Given the description of an element on the screen output the (x, y) to click on. 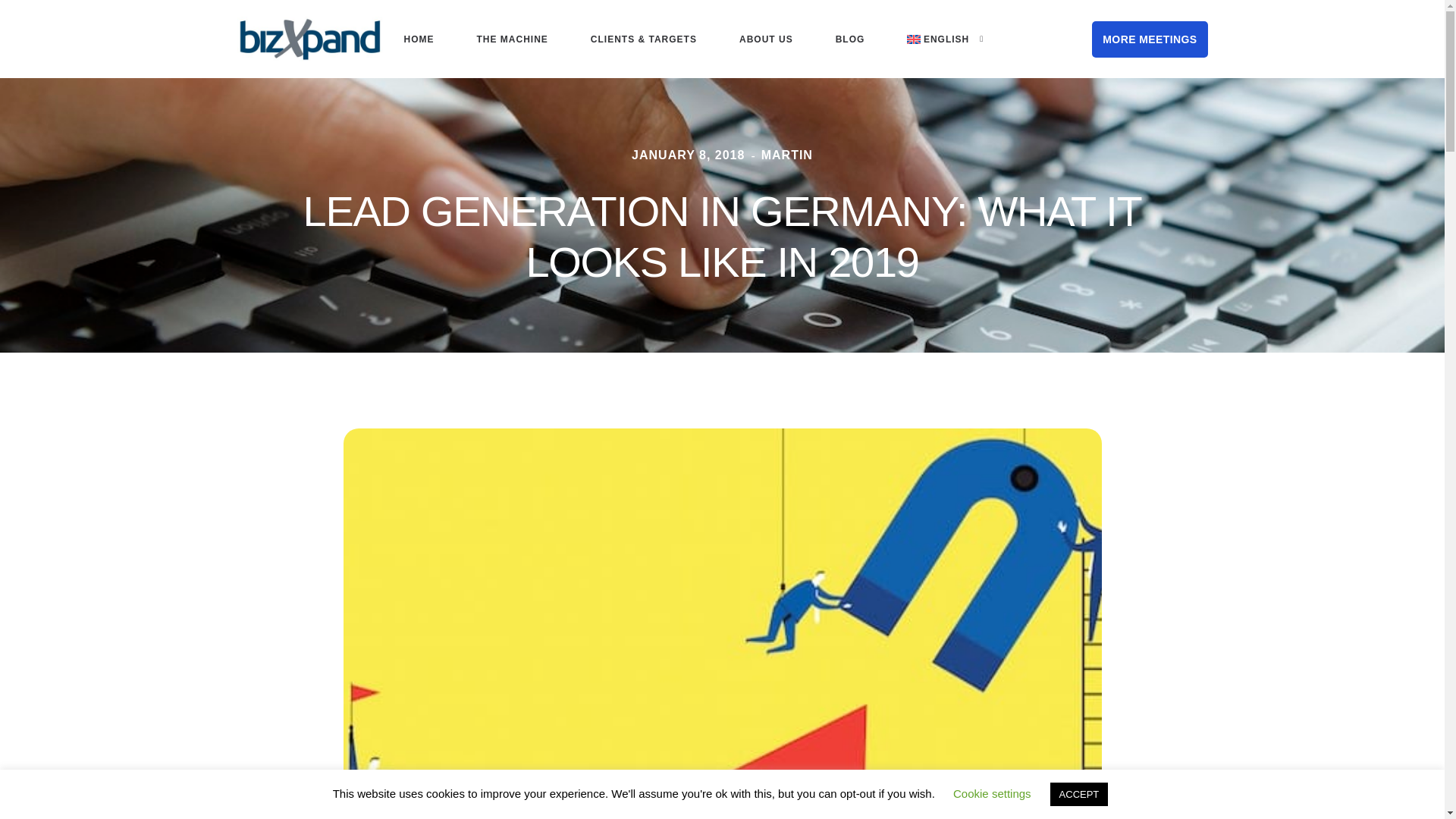
English (952, 39)
HOME (417, 39)
BLOG (849, 39)
MORE MEETINGS (1149, 39)
THE MACHINE (511, 39)
JANUARY 8, 2018 (660, 154)
ABOUT US (765, 39)
ENGLISH (952, 39)
